Given the description of an element on the screen output the (x, y) to click on. 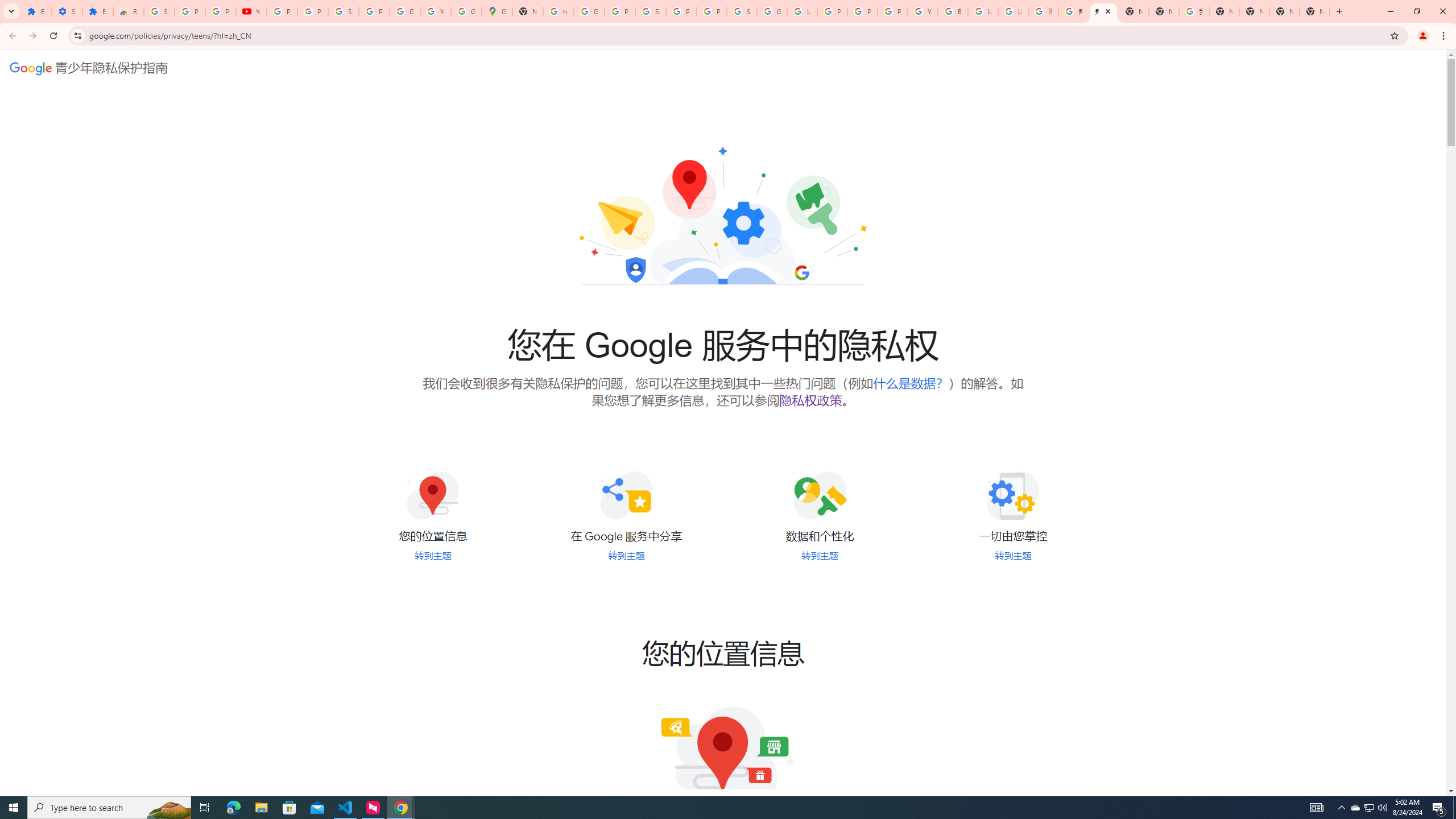
Google Account (404, 11)
Sign in - Google Accounts (741, 11)
